Given the description of an element on the screen output the (x, y) to click on. 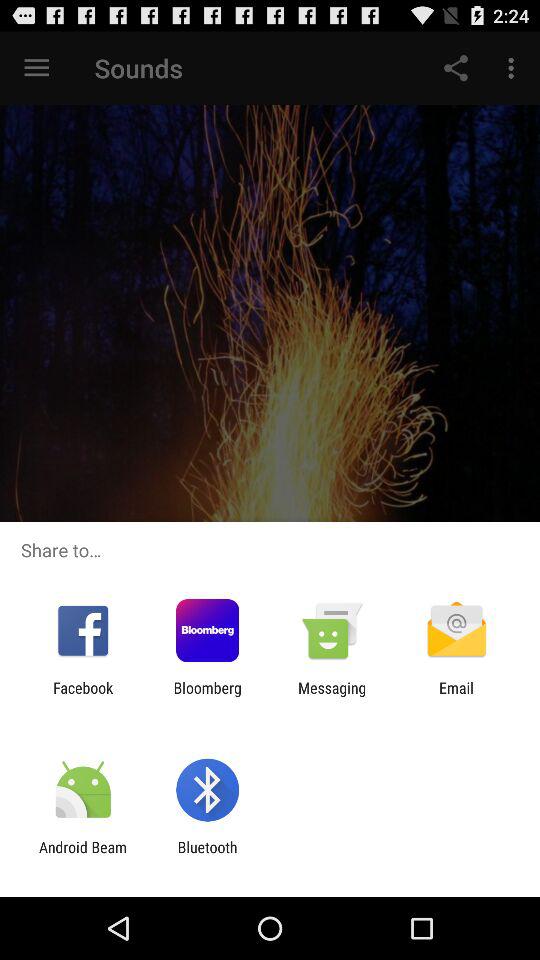
flip to facebook icon (83, 696)
